Given the description of an element on the screen output the (x, y) to click on. 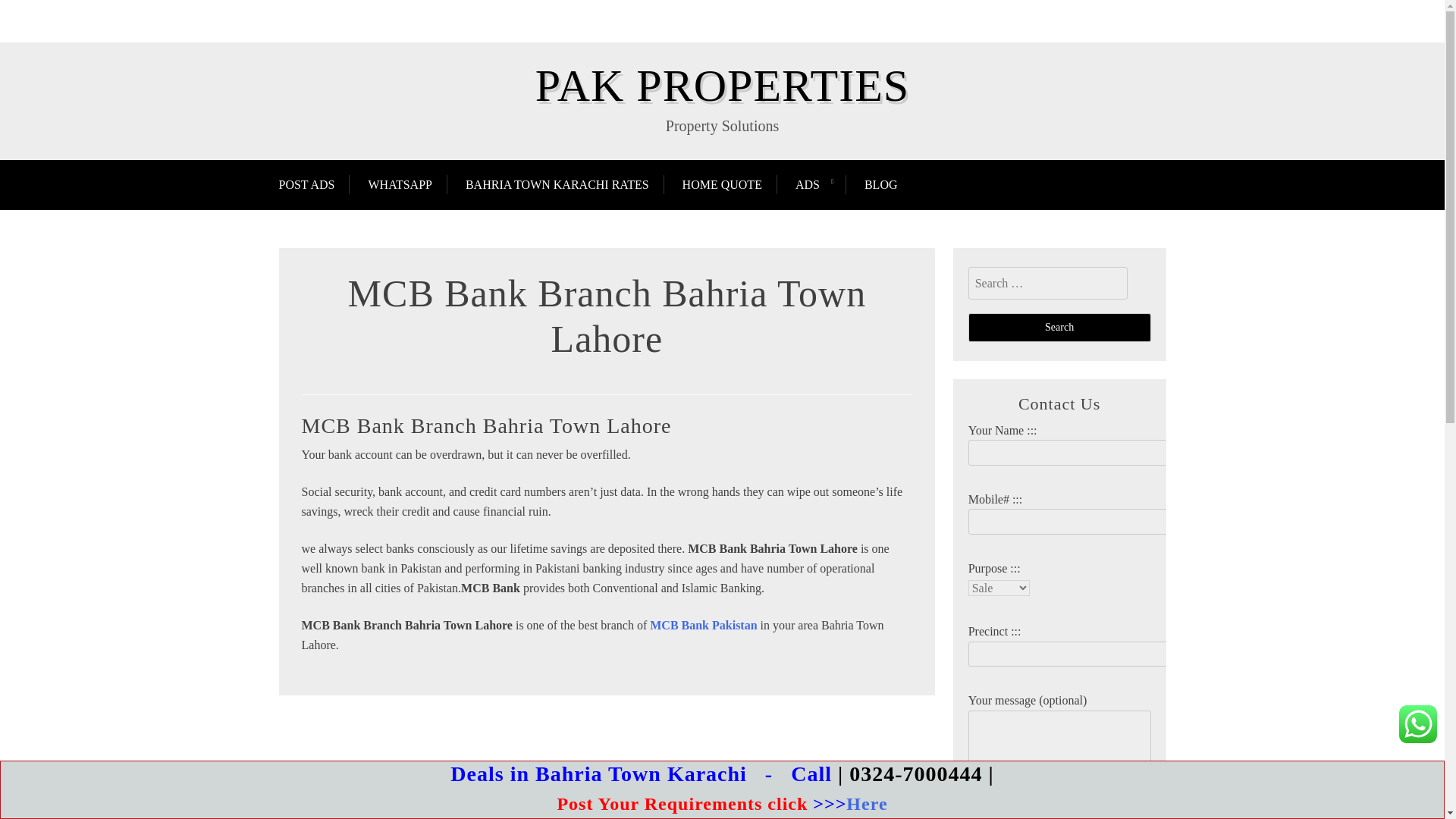
PAK PROPERTIES (721, 85)
WHATSAPP (399, 184)
Here (865, 803)
ADS (807, 184)
Search (1059, 327)
Search (1059, 327)
POST ADS (314, 184)
BLOG (880, 184)
MCB Bank Pakistan (703, 625)
Search (1059, 327)
WhatsApp Us (1418, 723)
BAHRIA TOWN KARACHI RATES (556, 184)
HOME QUOTE (721, 184)
